Given the description of an element on the screen output the (x, y) to click on. 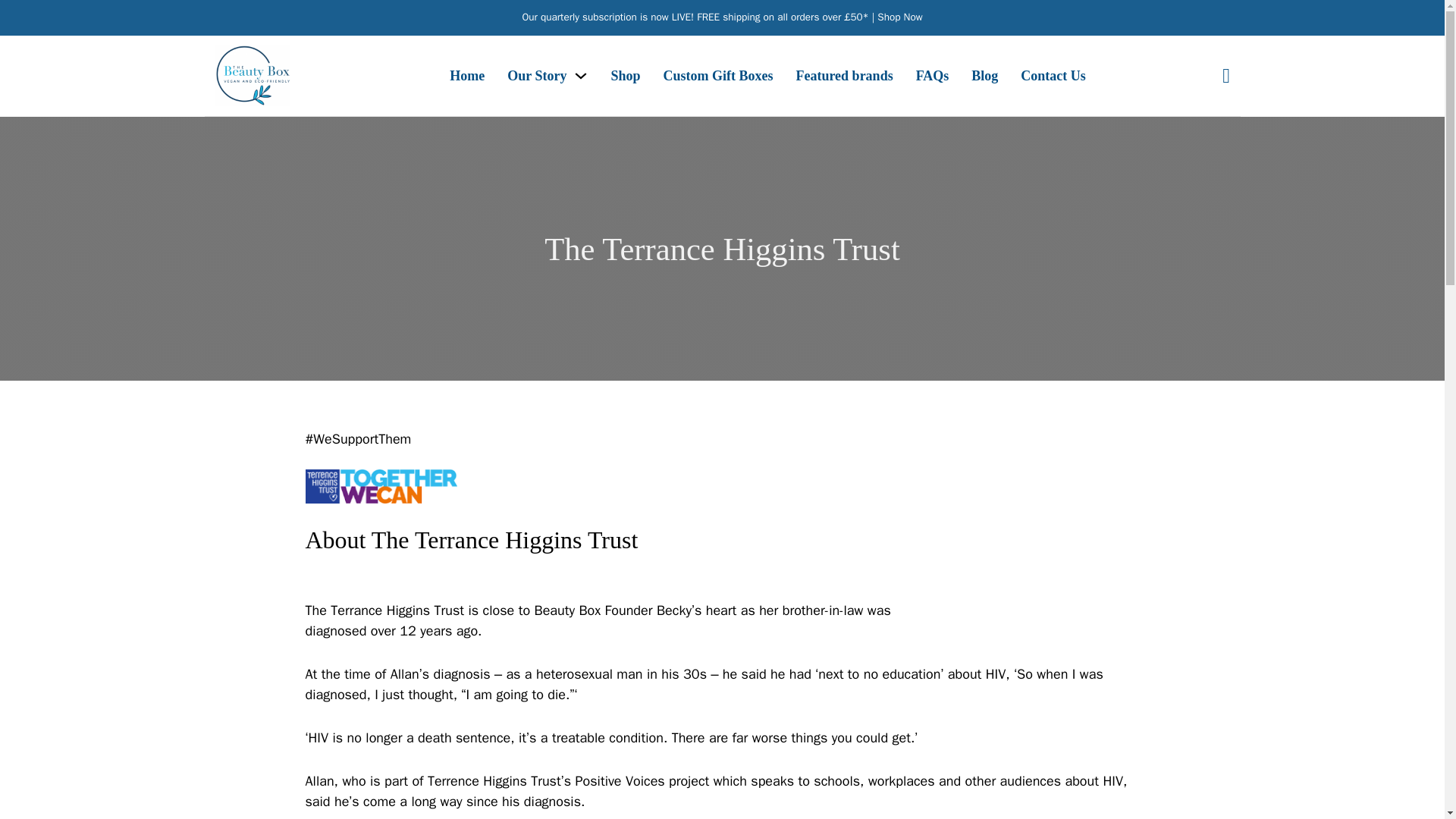
Featured brands (843, 76)
Custom Gift Boxes (717, 76)
Home (466, 76)
Blog (984, 76)
Our Story (536, 76)
Shop Now (899, 16)
FAQs (932, 76)
Contact Us (1053, 76)
Shop (625, 76)
